Given the description of an element on the screen output the (x, y) to click on. 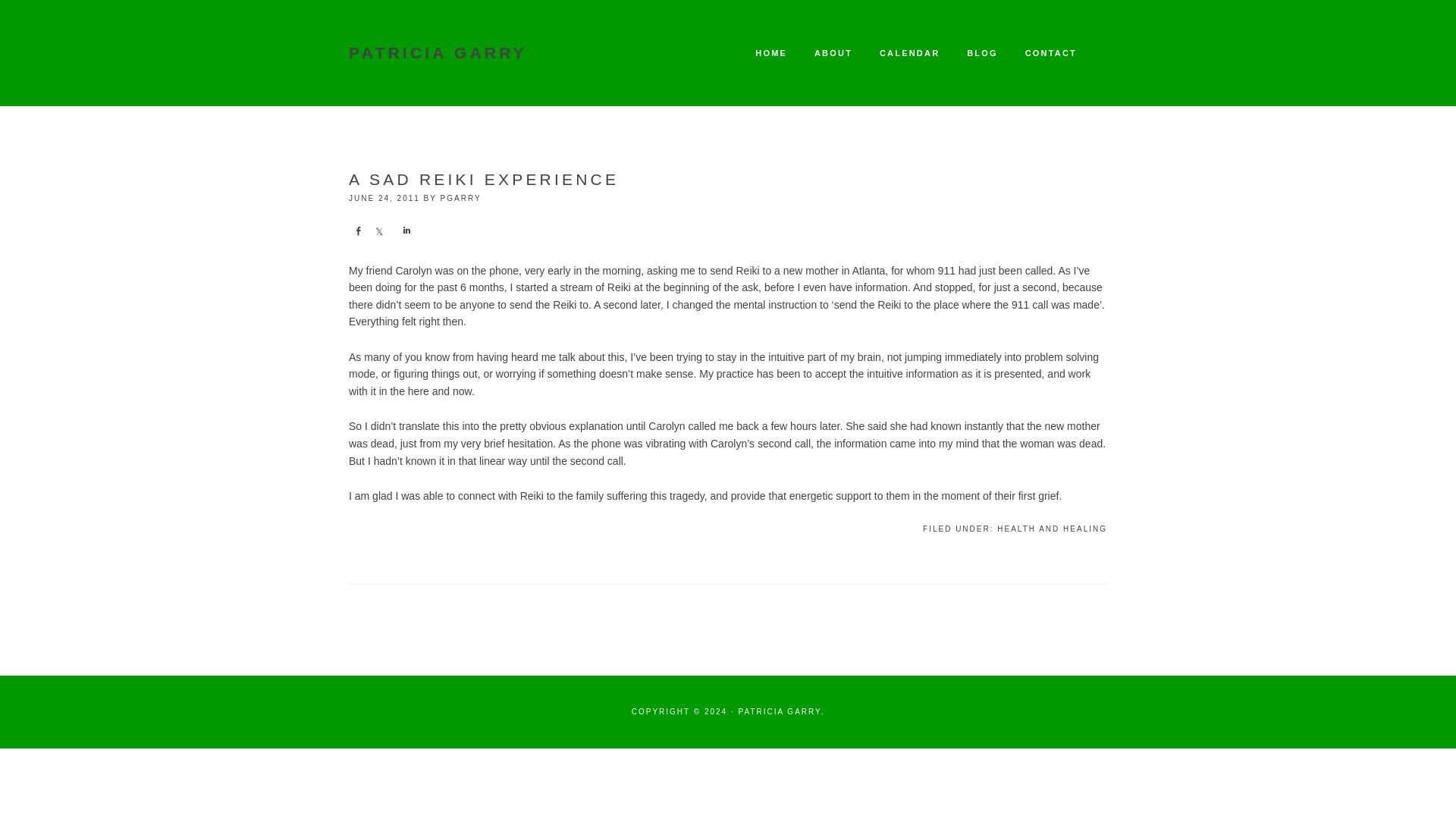
HEALTH AND HEALING (1051, 528)
PATRICIA GARRY (438, 53)
CONTACT (1051, 53)
Share (379, 230)
PGARRY (461, 198)
Share (357, 230)
CALENDAR (909, 53)
Share (405, 230)
